Given the description of an element on the screen output the (x, y) to click on. 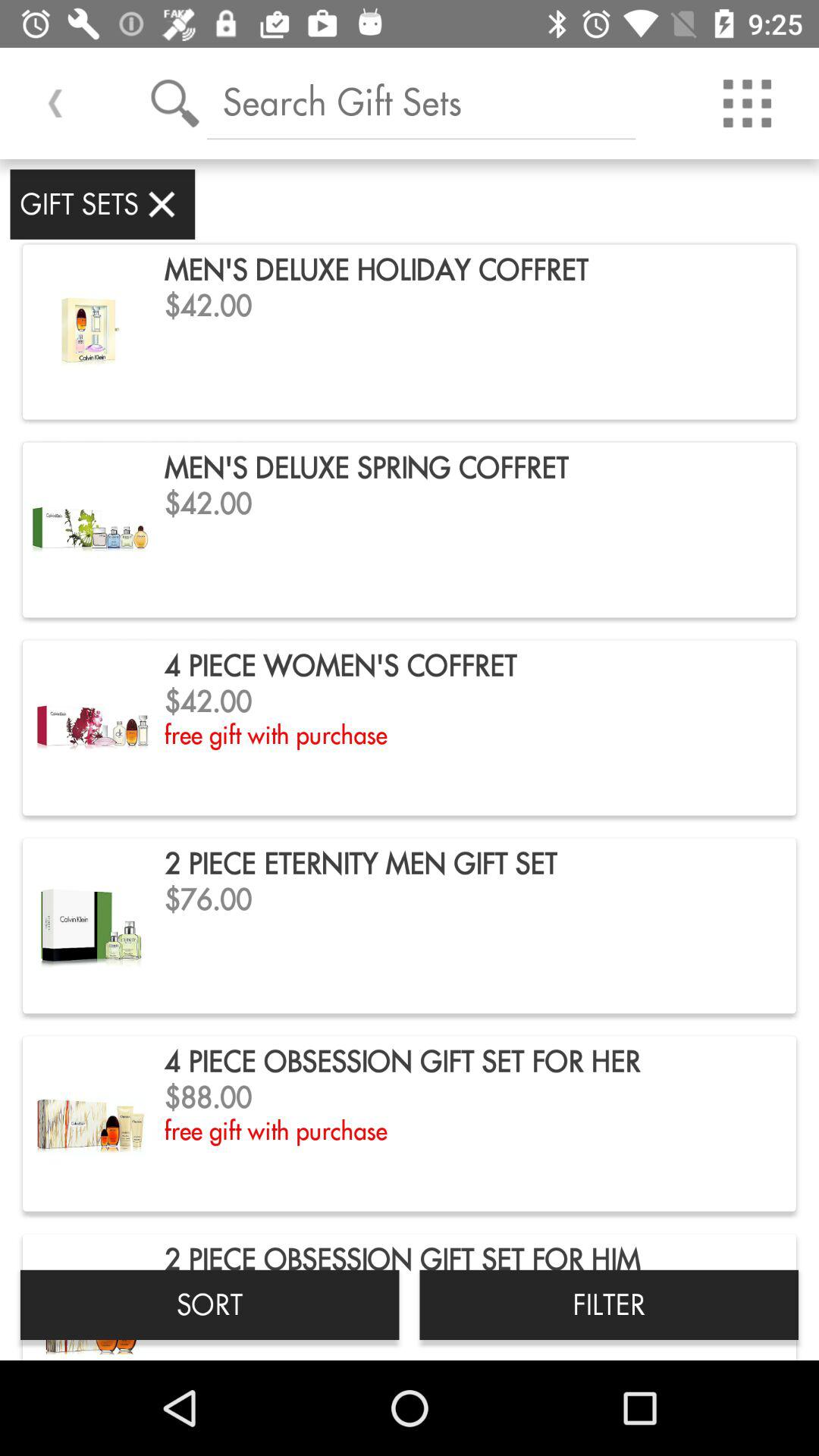
turn off the app below the 4 piece obsession (608, 1304)
